Given the description of an element on the screen output the (x, y) to click on. 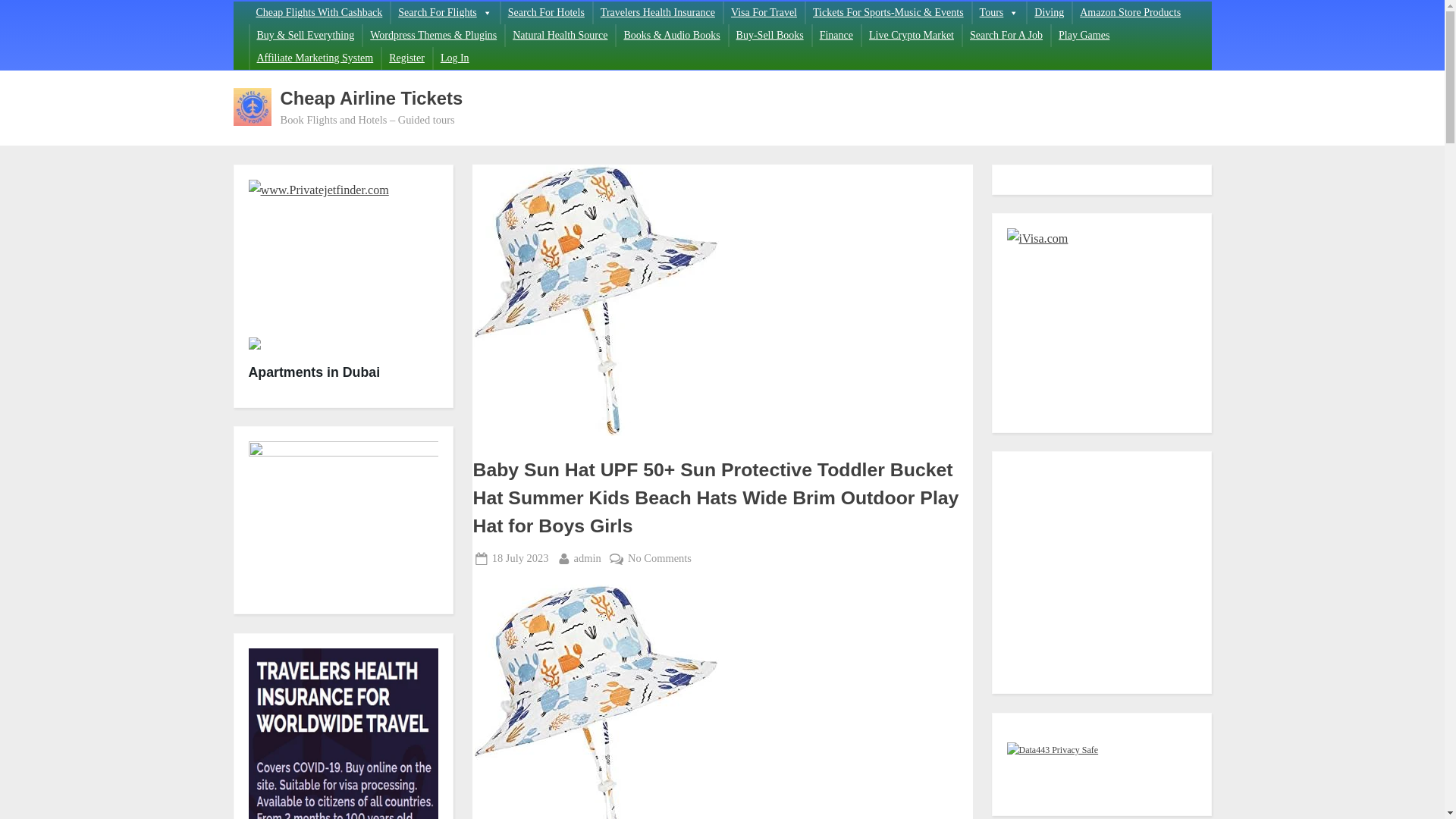
Affiliate Marketing System (587, 558)
Search For Hotels (314, 57)
Search For Flights (546, 12)
Register (444, 12)
Log In (406, 57)
Finance (454, 57)
Amazon Store Products (836, 35)
Play Games (520, 558)
